Given the description of an element on the screen output the (x, y) to click on. 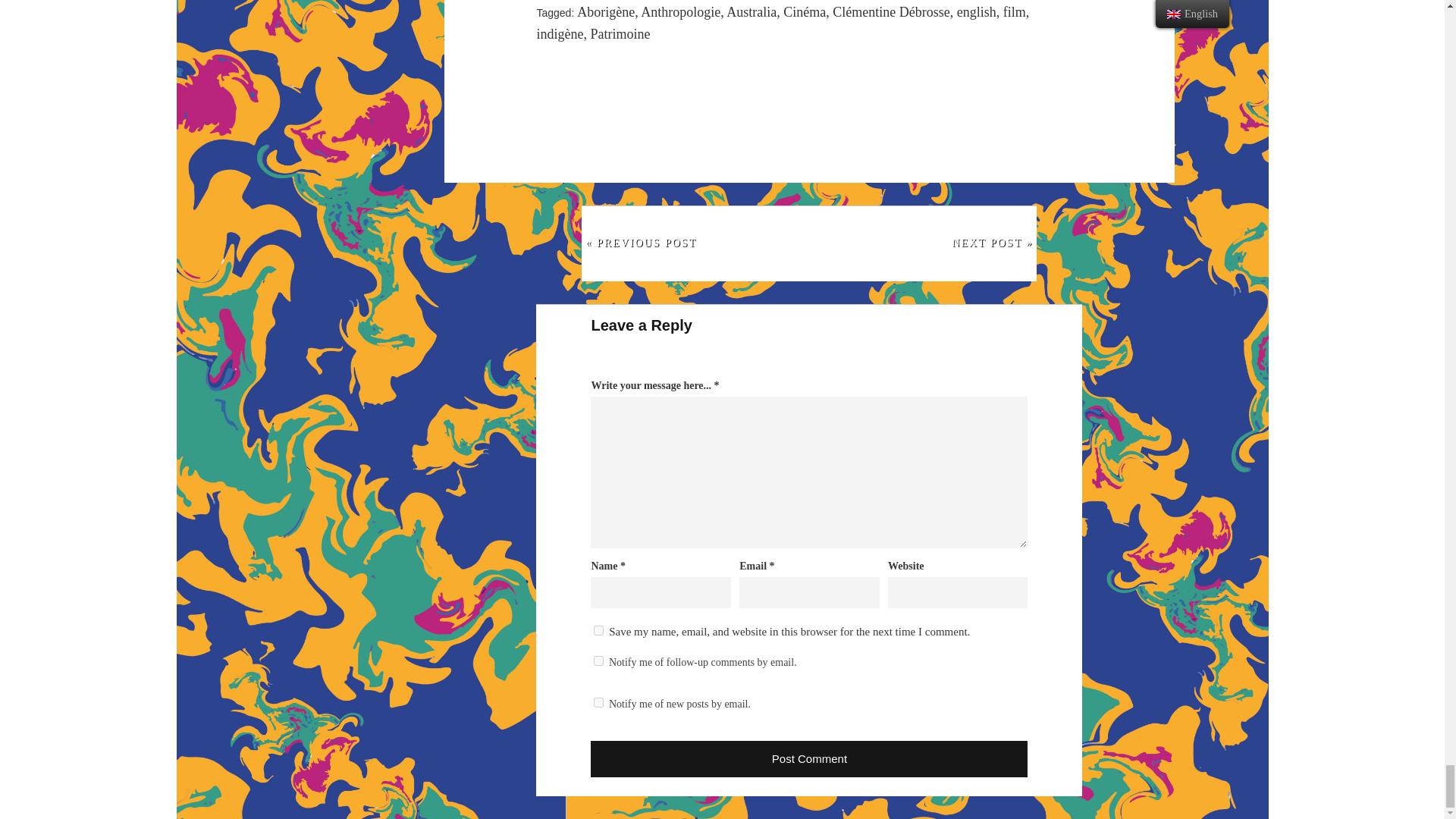
yes (599, 630)
subscribe (599, 660)
subscribe (599, 702)
Post Comment (809, 759)
